Given the description of an element on the screen output the (x, y) to click on. 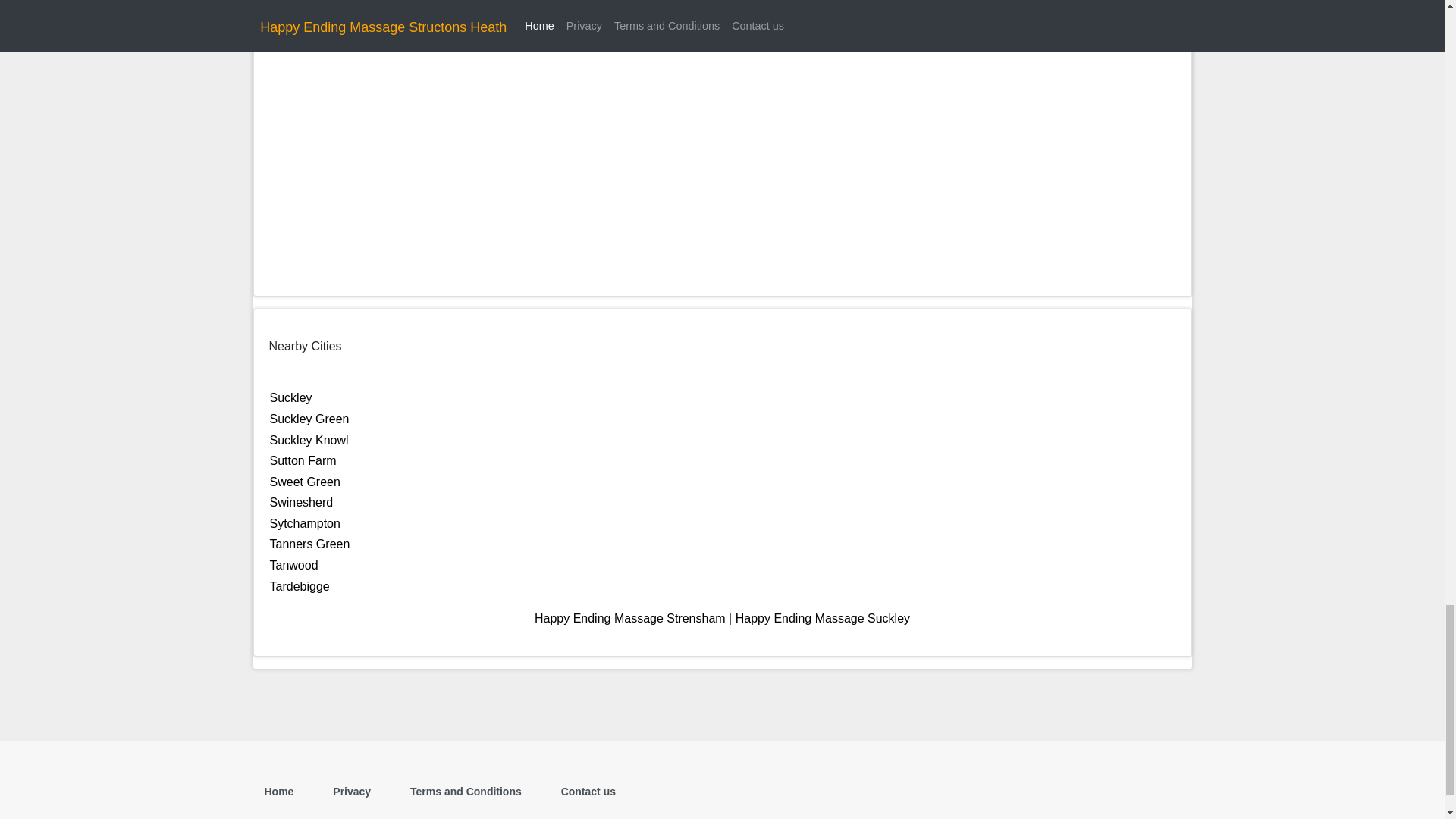
Suckley (291, 397)
Sweet Green (304, 481)
Tardebigge (299, 585)
Sutton Farm (302, 460)
Tanners Green (309, 543)
Happy Ending Massage Strensham (629, 617)
Suckley Green (309, 418)
Suckley Knowl (309, 440)
Sytchampton (304, 522)
Tanwood (293, 564)
